Given the description of an element on the screen output the (x, y) to click on. 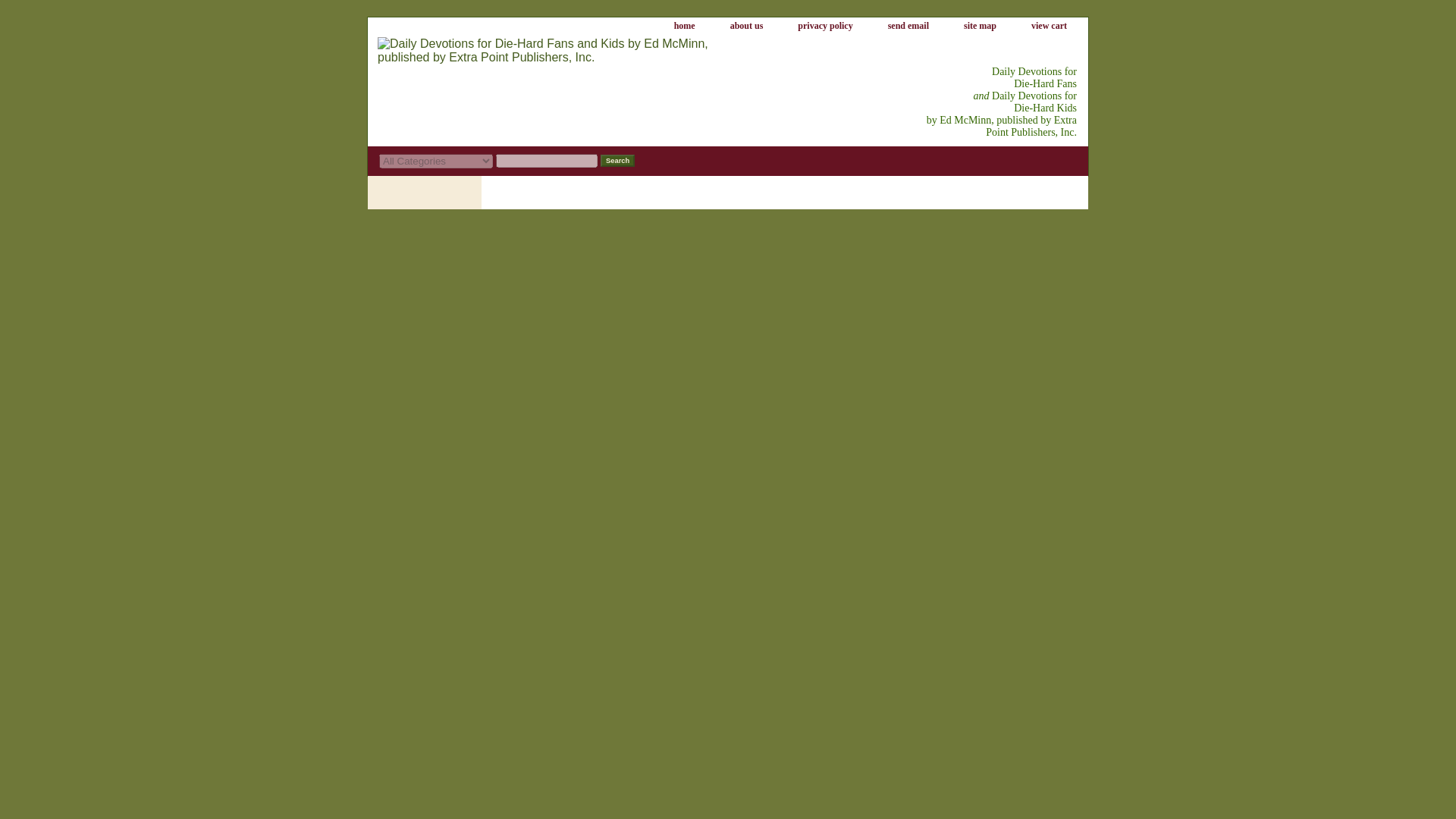
about us (746, 26)
view cart (1048, 26)
site map (980, 26)
Search (616, 160)
Search (616, 160)
send email (907, 26)
privacy policy (825, 26)
home (684, 26)
